Given the description of an element on the screen output the (x, y) to click on. 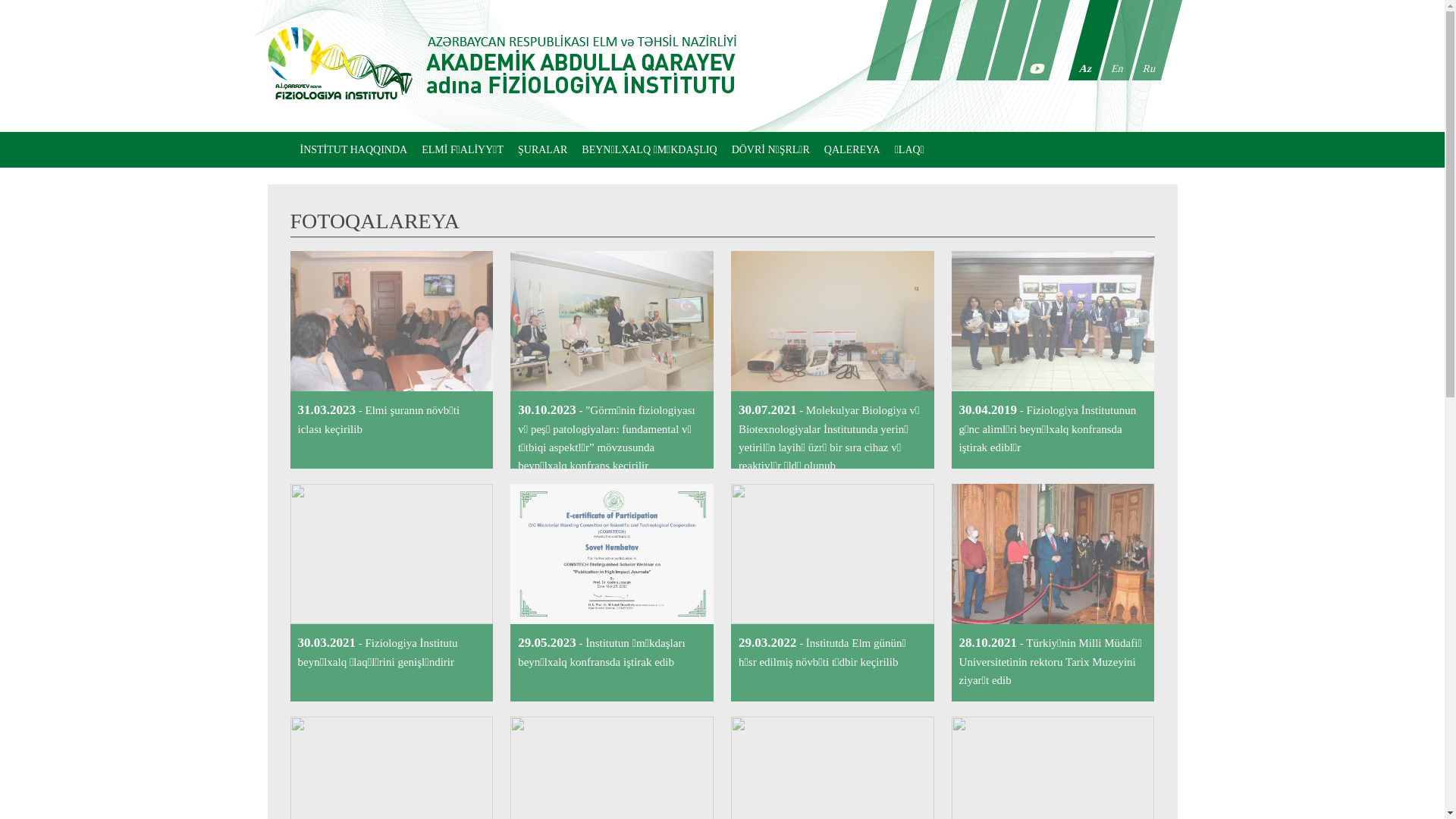
En Element type: text (1113, 40)
Ru Element type: text (1145, 40)
Az Element type: text (1081, 40)
QALEREYA Element type: text (852, 149)
